Given the description of an element on the screen output the (x, y) to click on. 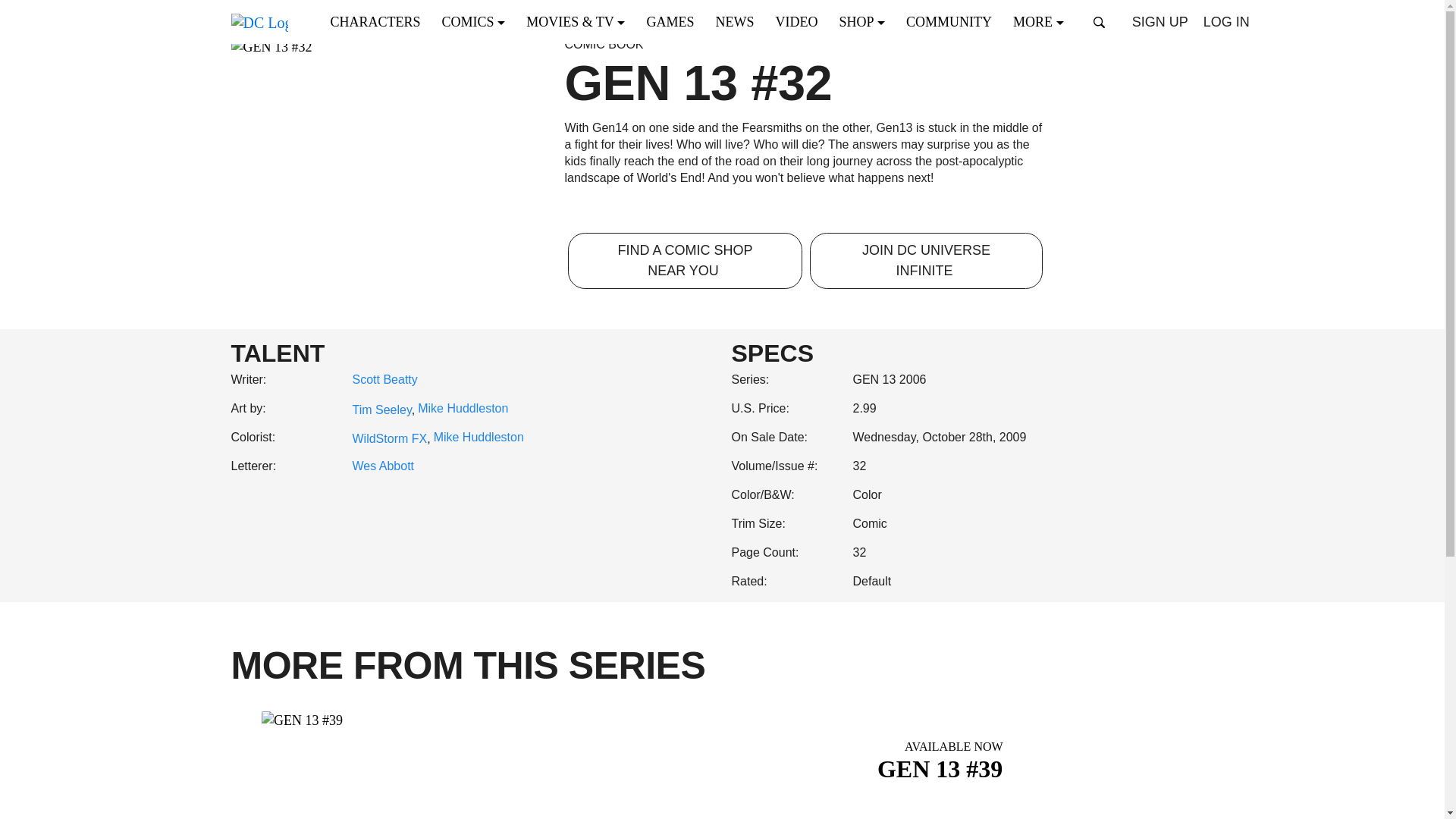
COMICS (478, 21)
CHARACTERS (379, 21)
Open search (1099, 22)
